Given the description of an element on the screen output the (x, y) to click on. 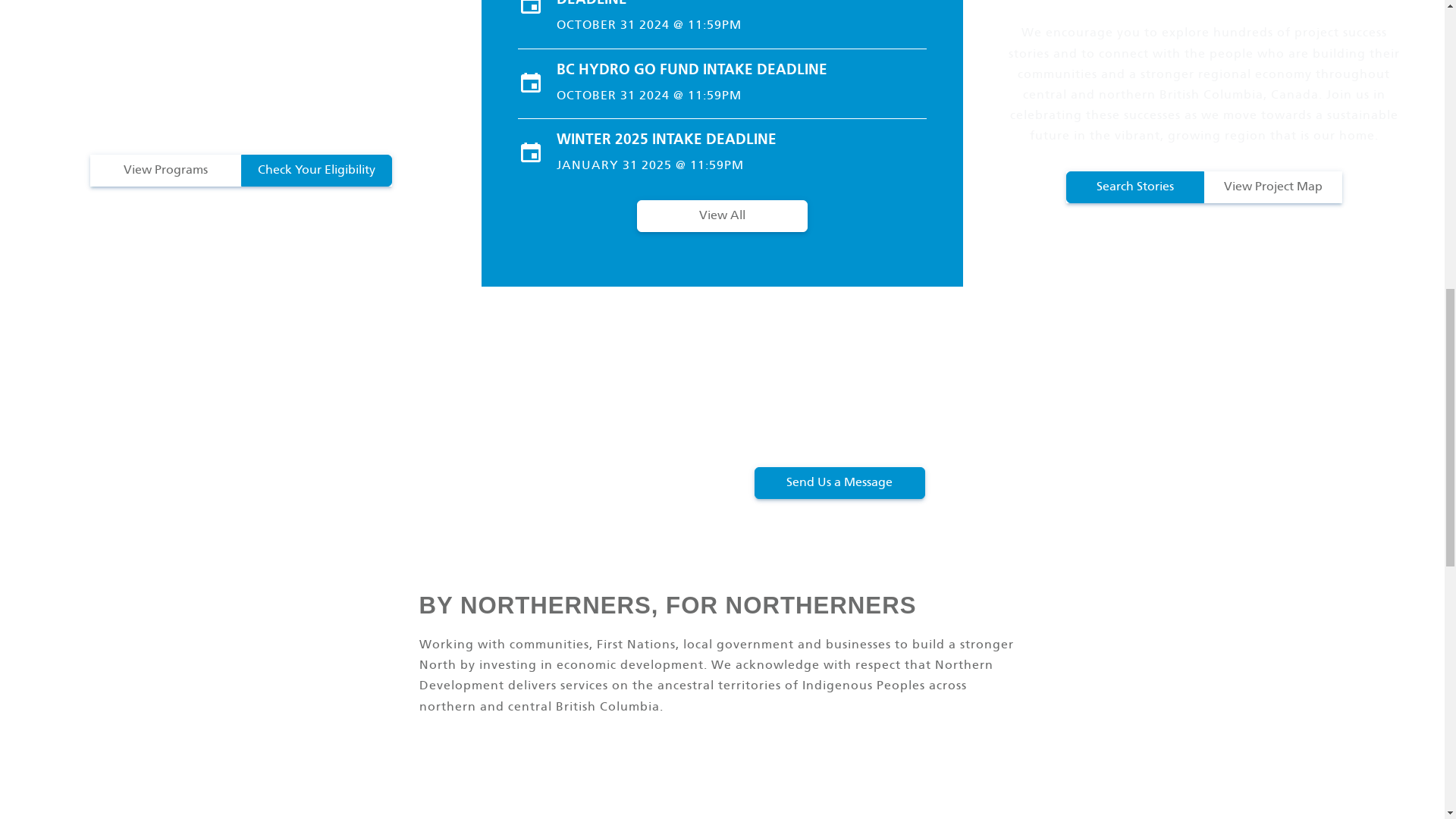
Email (1177, 432)
View All (722, 215)
BC Peace Agriculture Fund (240, 802)
Search Stories (1134, 187)
Check Your Eligibility (316, 170)
WINTER 2025 INTAKE DEADLINE (741, 140)
State of the North Report (721, 802)
View All Events (722, 215)
Phone Number (1333, 432)
View Programs (164, 170)
